Given the description of an element on the screen output the (x, y) to click on. 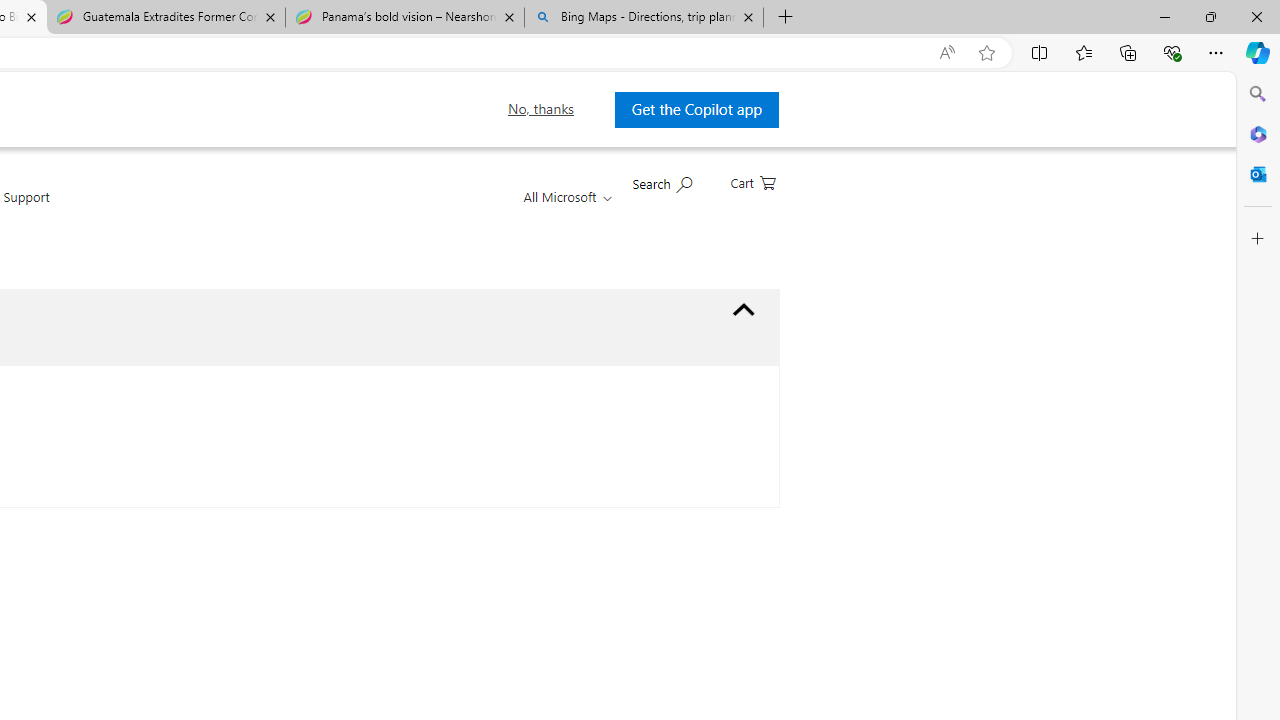
0 items in shopping cart (752, 181)
What product are you reporting on? no option selected (744, 309)
